Given the description of an element on the screen output the (x, y) to click on. 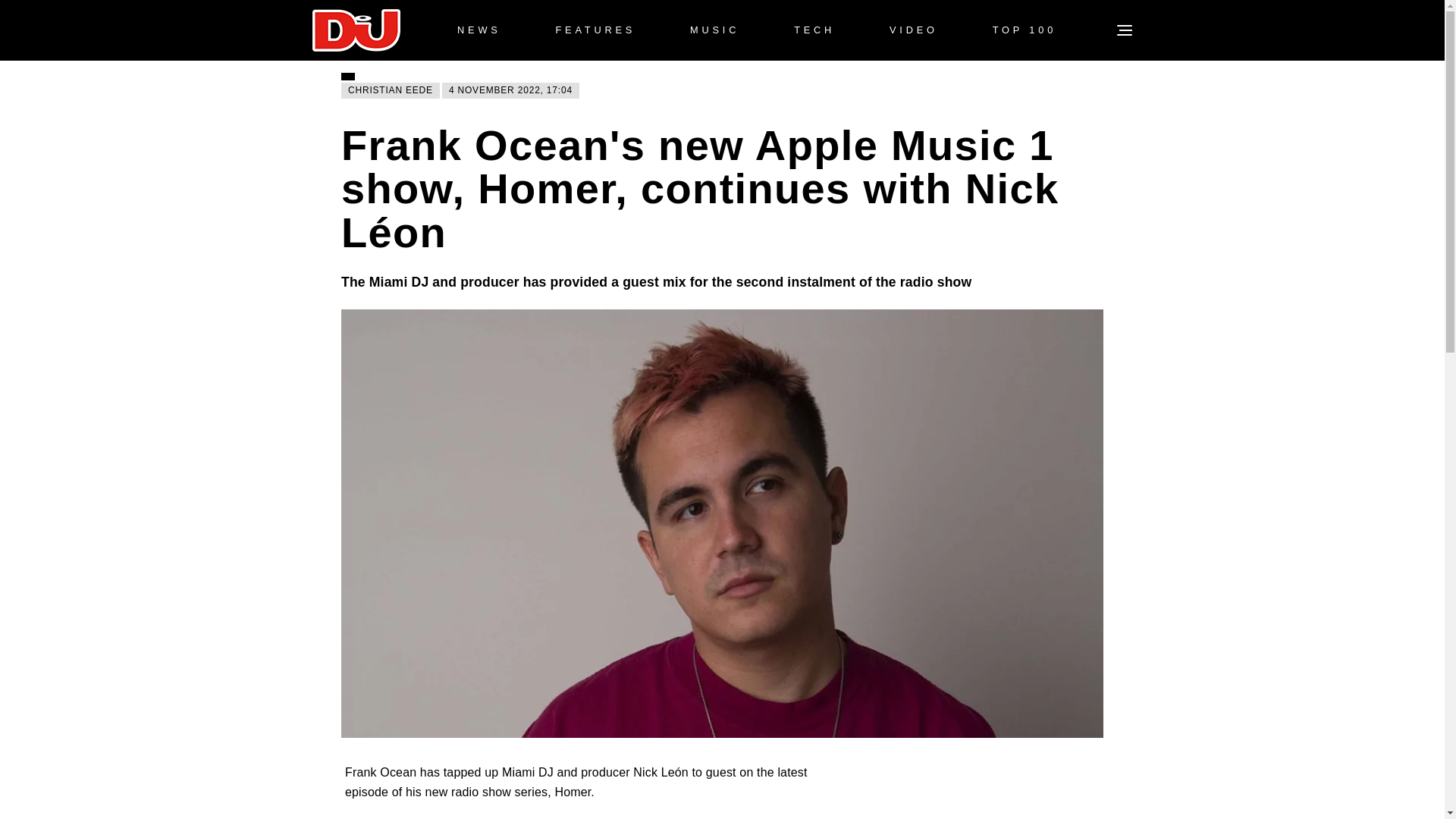
VIDEO (913, 29)
NEWS (478, 29)
DJ Mag (356, 30)
MUSIC (714, 29)
FEATURES (594, 29)
TECH (813, 29)
